Given the description of an element on the screen output the (x, y) to click on. 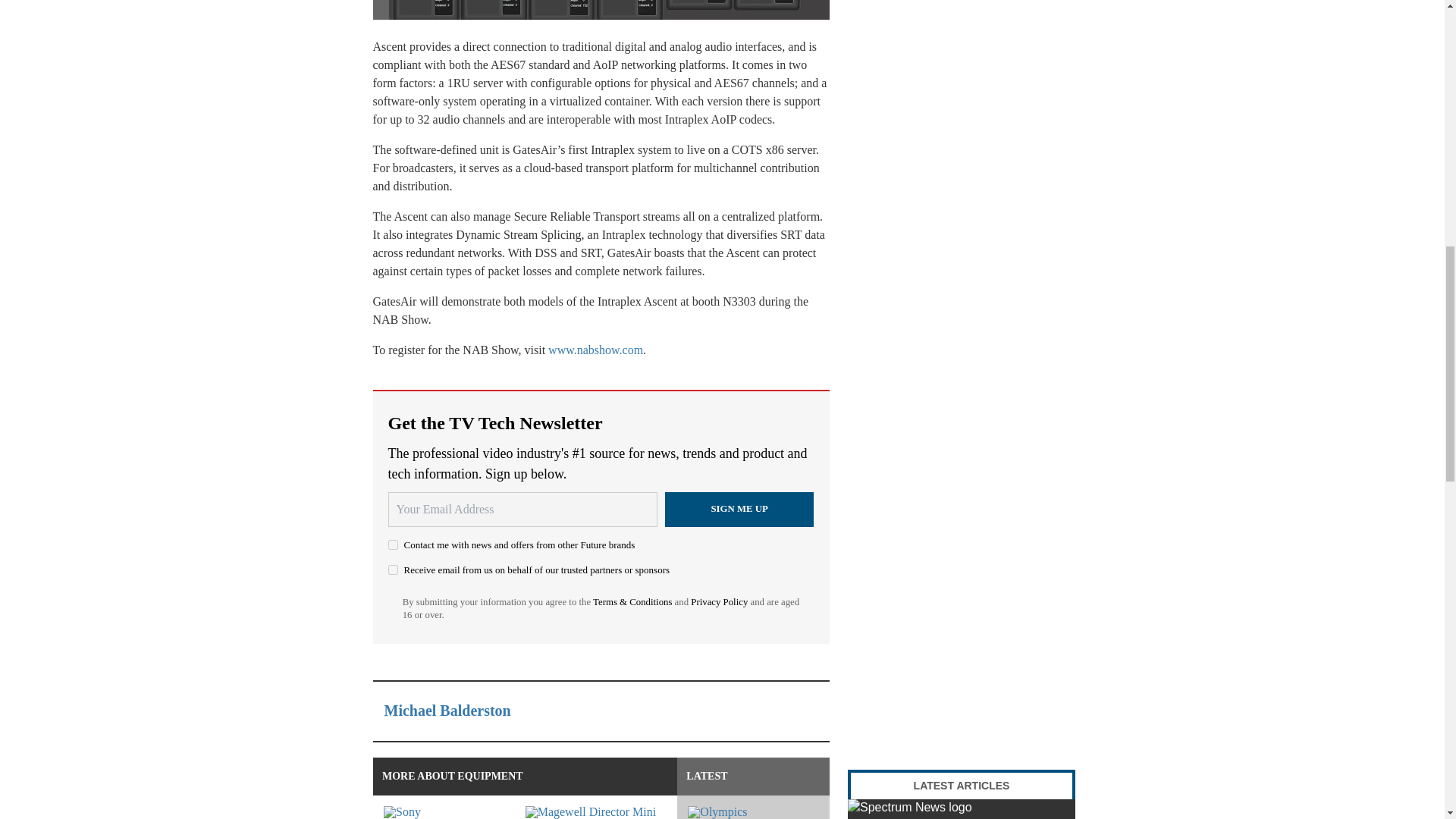
Sign me up (739, 509)
Privacy Policy (719, 602)
Spectrum News Launches Local TV News Network in St. Louis (961, 809)
Michael Balderston (447, 710)
www.nabshow.com (595, 349)
on (392, 544)
Sign me up (739, 509)
